Given the description of an element on the screen output the (x, y) to click on. 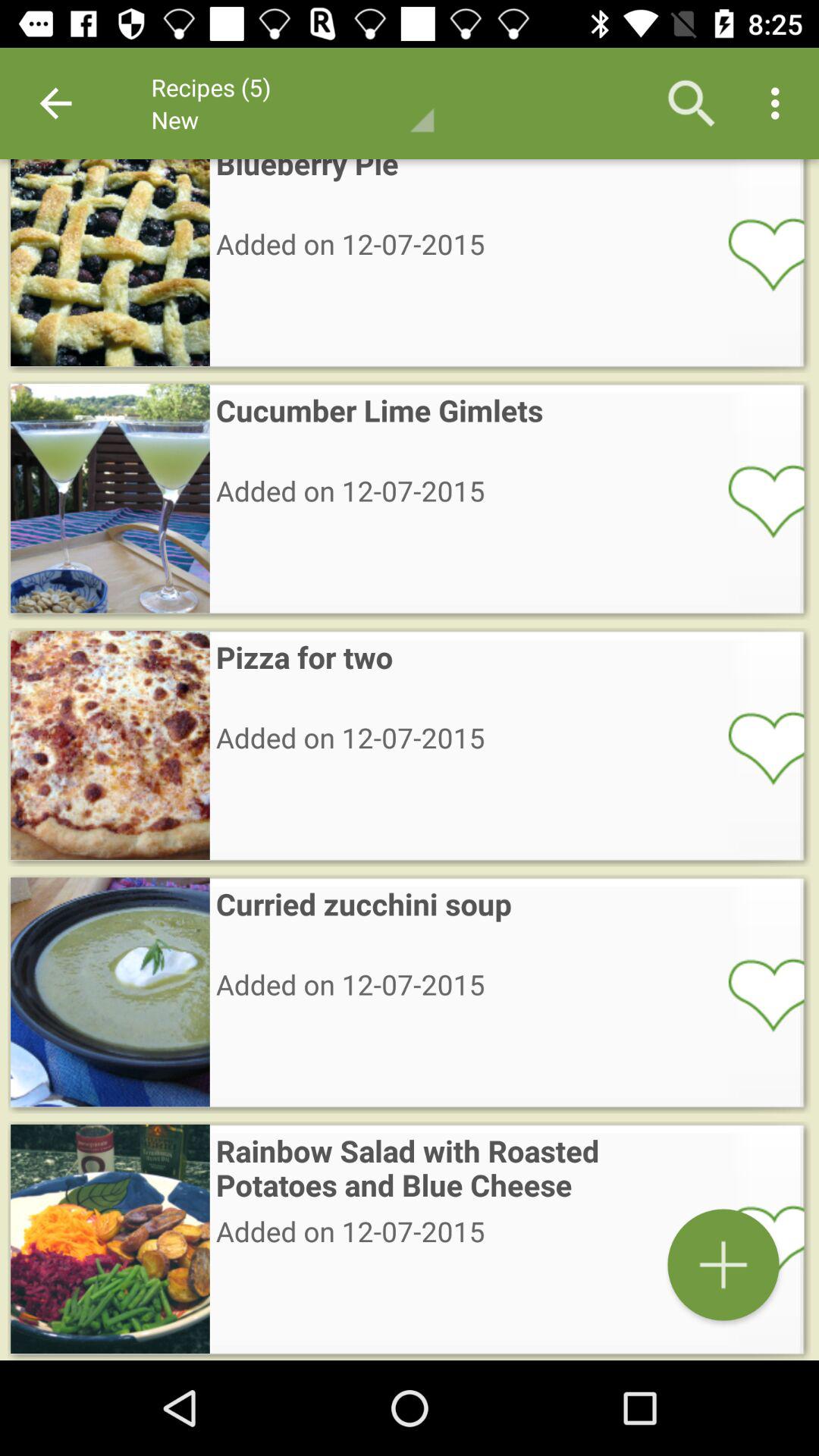
like or heart item (756, 500)
